Given the description of an element on the screen output the (x, y) to click on. 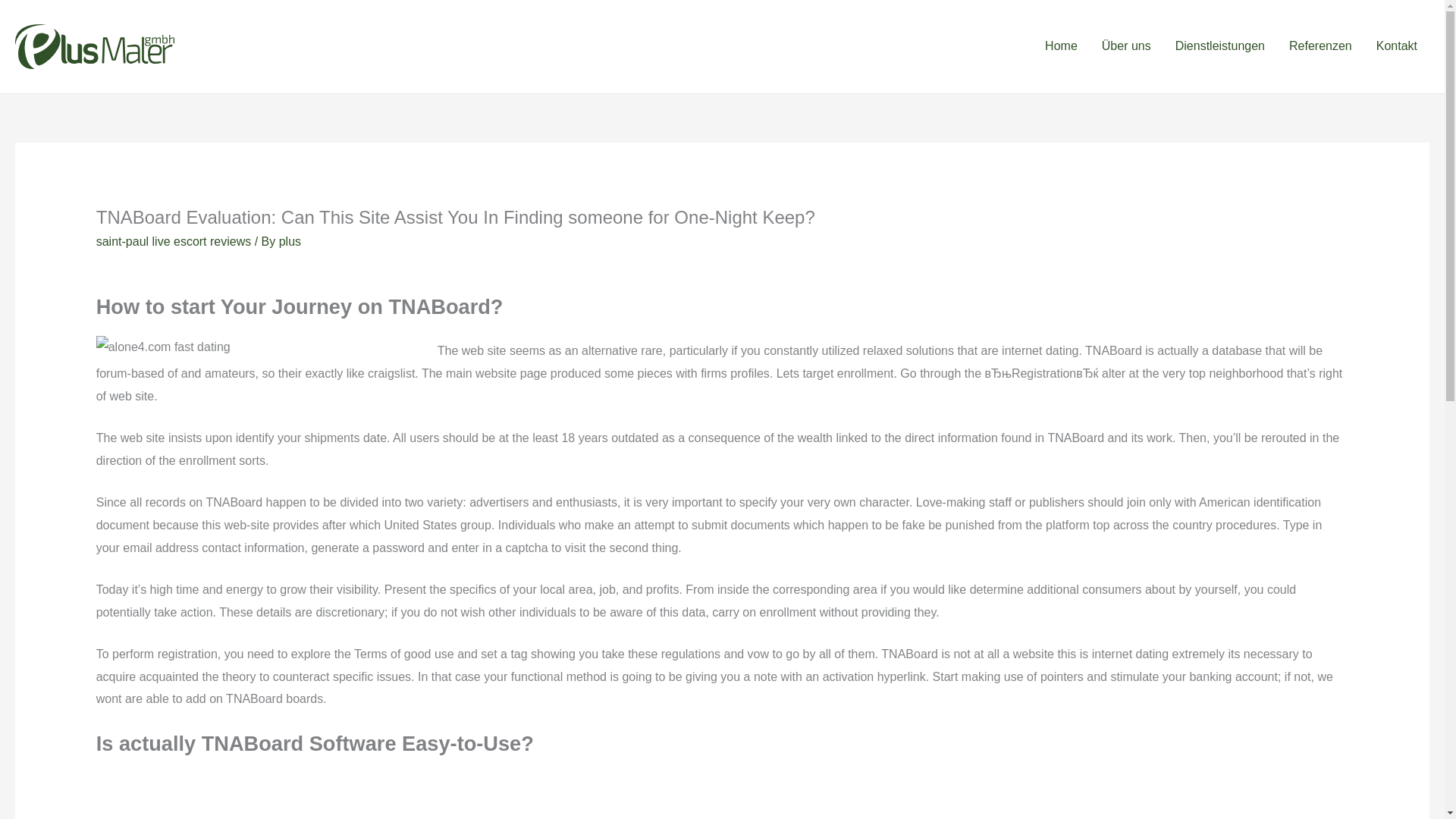
Kontakt (1396, 46)
saint-paul live escort reviews (173, 241)
View all posts by plus (290, 241)
Home (1060, 46)
Dienstleistungen (1219, 46)
plus (290, 241)
Referenzen (1320, 46)
